Given the description of an element on the screen output the (x, y) to click on. 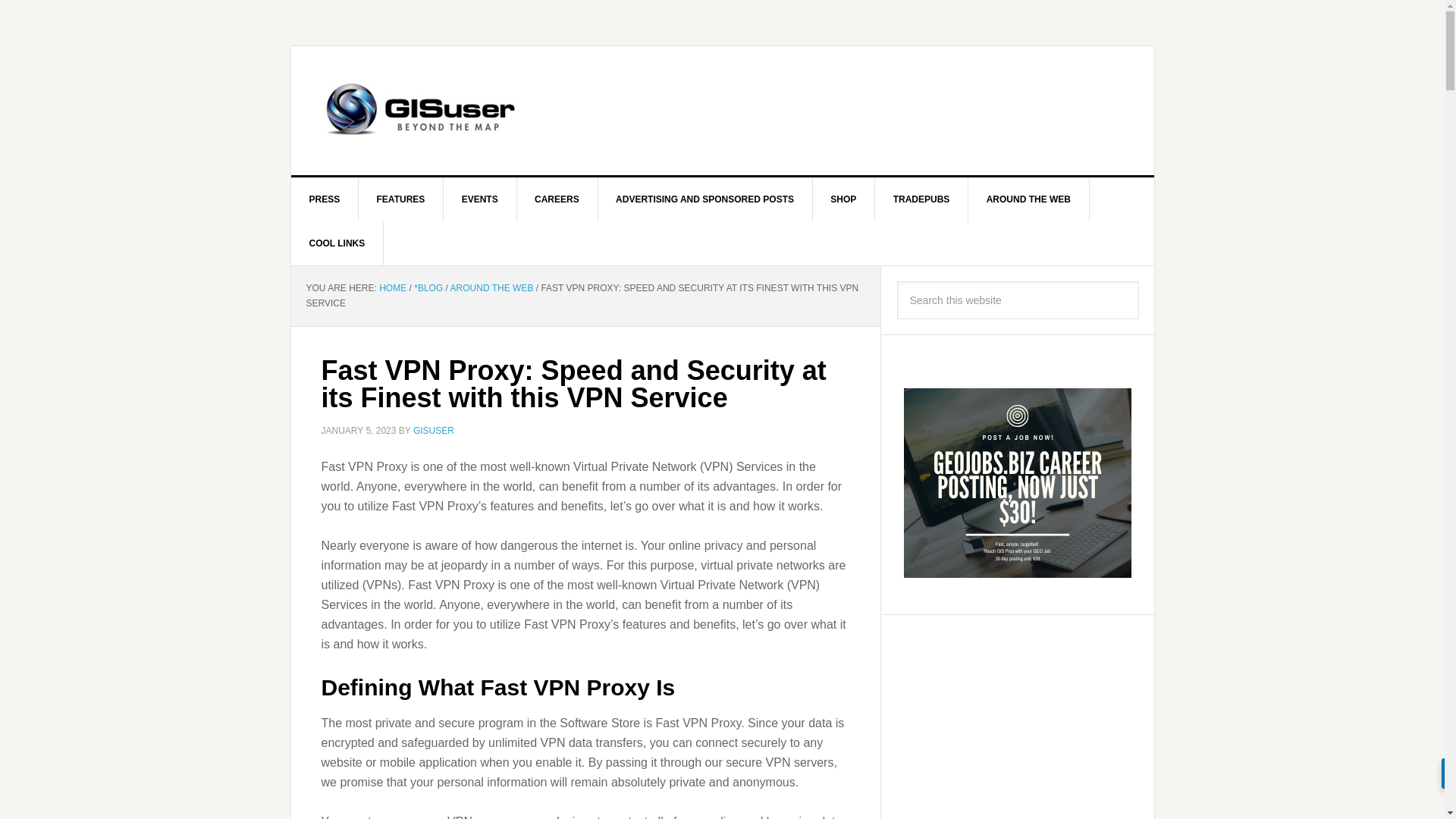
GIS USER TECHNOLOGY NEWS (419, 110)
SHOP (843, 199)
AROUND THE WEB (1028, 199)
AROUND THE WEB (491, 287)
3rd party ad content (823, 110)
Press (325, 199)
HOME (392, 287)
EVENTS (480, 199)
ADVERTISING AND SPONSORED POSTS (704, 199)
shop (843, 199)
PRESS (325, 199)
TRADEPUBS (922, 199)
